Given the description of an element on the screen output the (x, y) to click on. 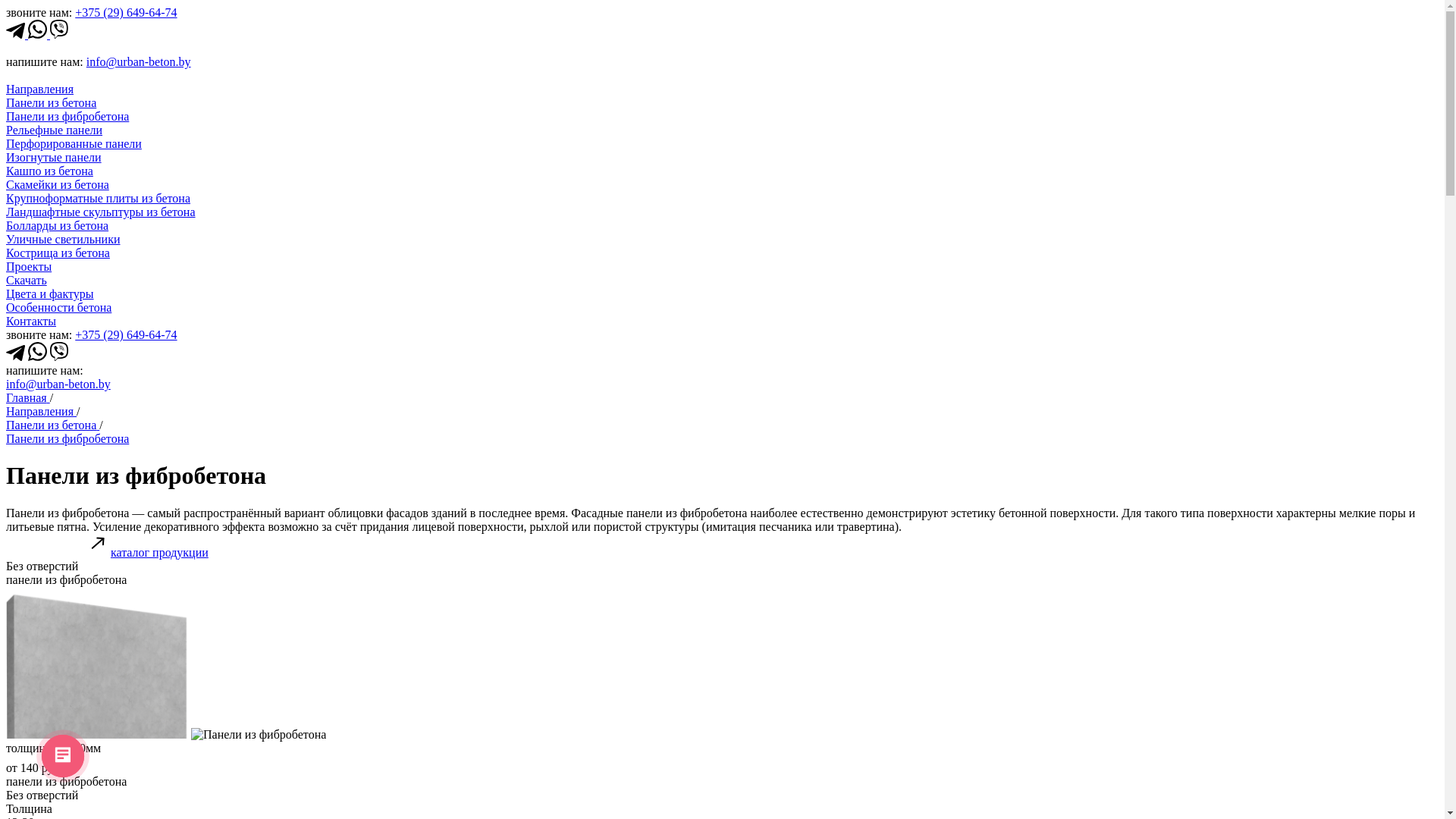
info@urban-beton.by Element type: text (138, 61)
info@urban-beton.by Element type: text (58, 383)
+375 (29) 649-64-74 Element type: text (125, 334)
+375 (29) 649-64-74 Element type: text (125, 12)
